Given the description of an element on the screen output the (x, y) to click on. 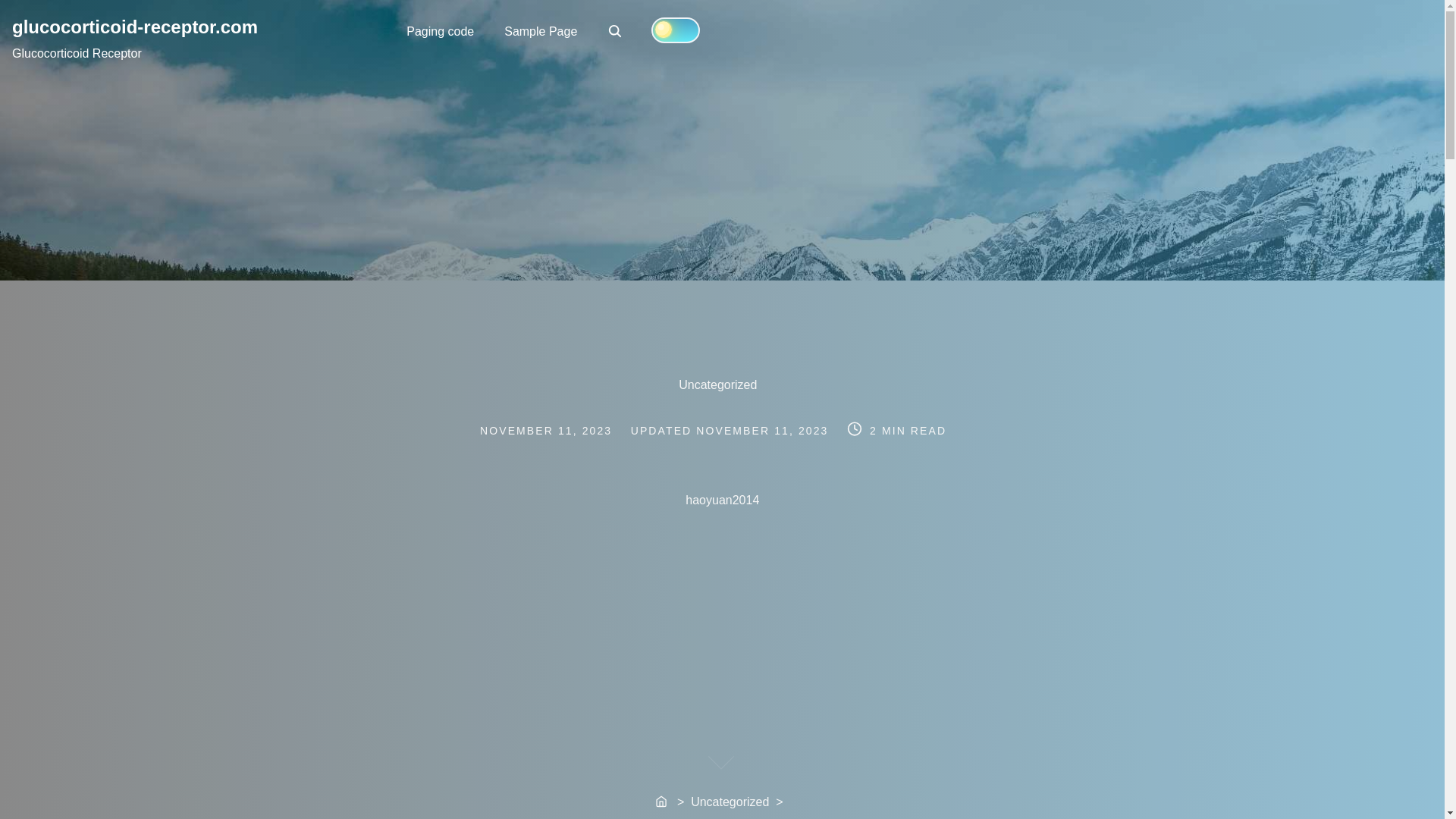
Paging code (440, 30)
glucocorticoid-receptor.com (134, 26)
Home (662, 802)
View all posts by haoyuan2014 (927, 501)
haoyuan2014 (927, 501)
Uncategorized (721, 384)
Search (615, 30)
NOVEMBER 11, 2023 (616, 31)
Sample Page (761, 430)
NOVEMBER 11, 2023 (540, 30)
